Given the description of an element on the screen output the (x, y) to click on. 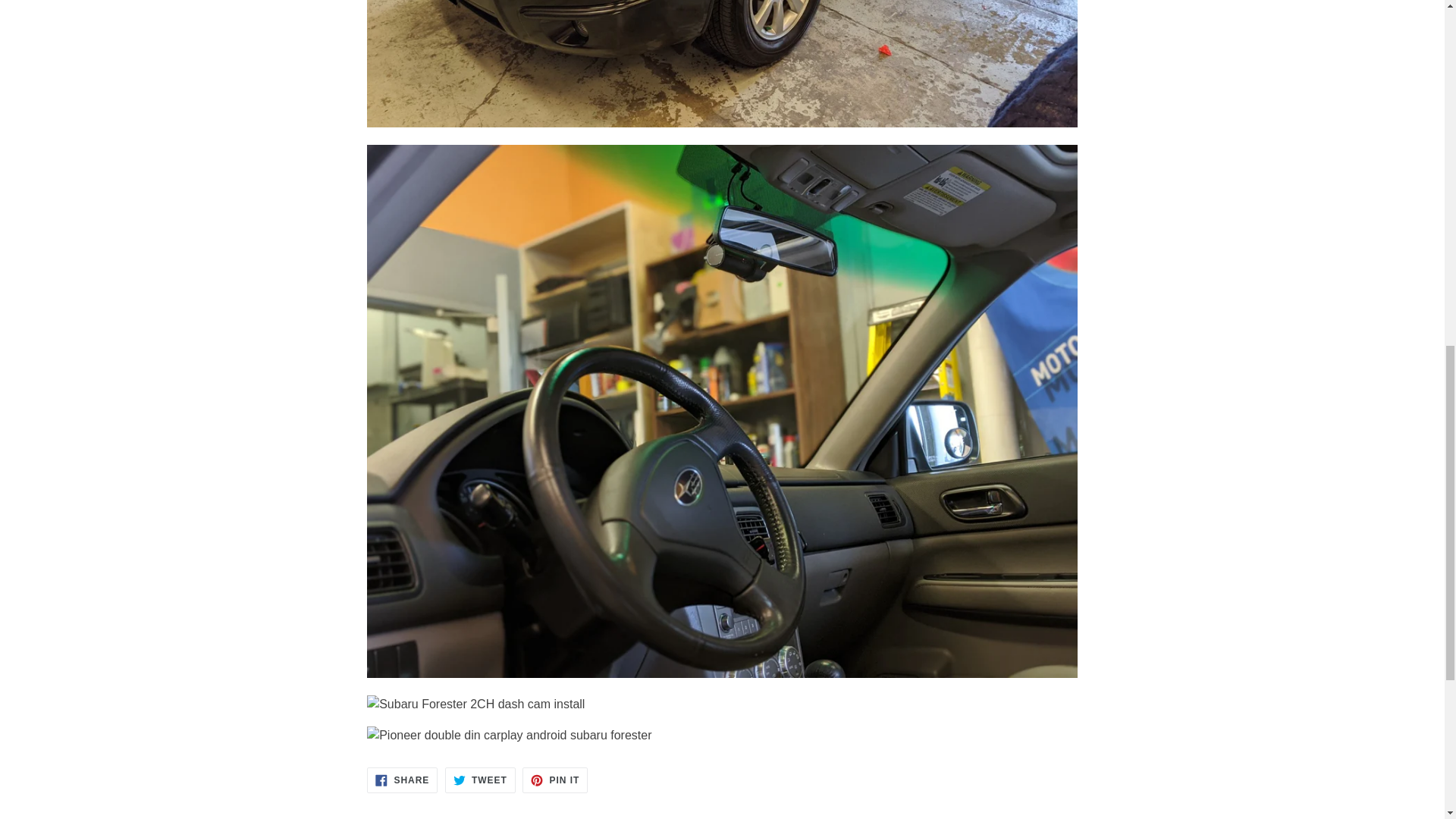
Share on Facebook (402, 780)
Tweet on Twitter (480, 780)
Pin on Pinterest (555, 780)
